Given the description of an element on the screen output the (x, y) to click on. 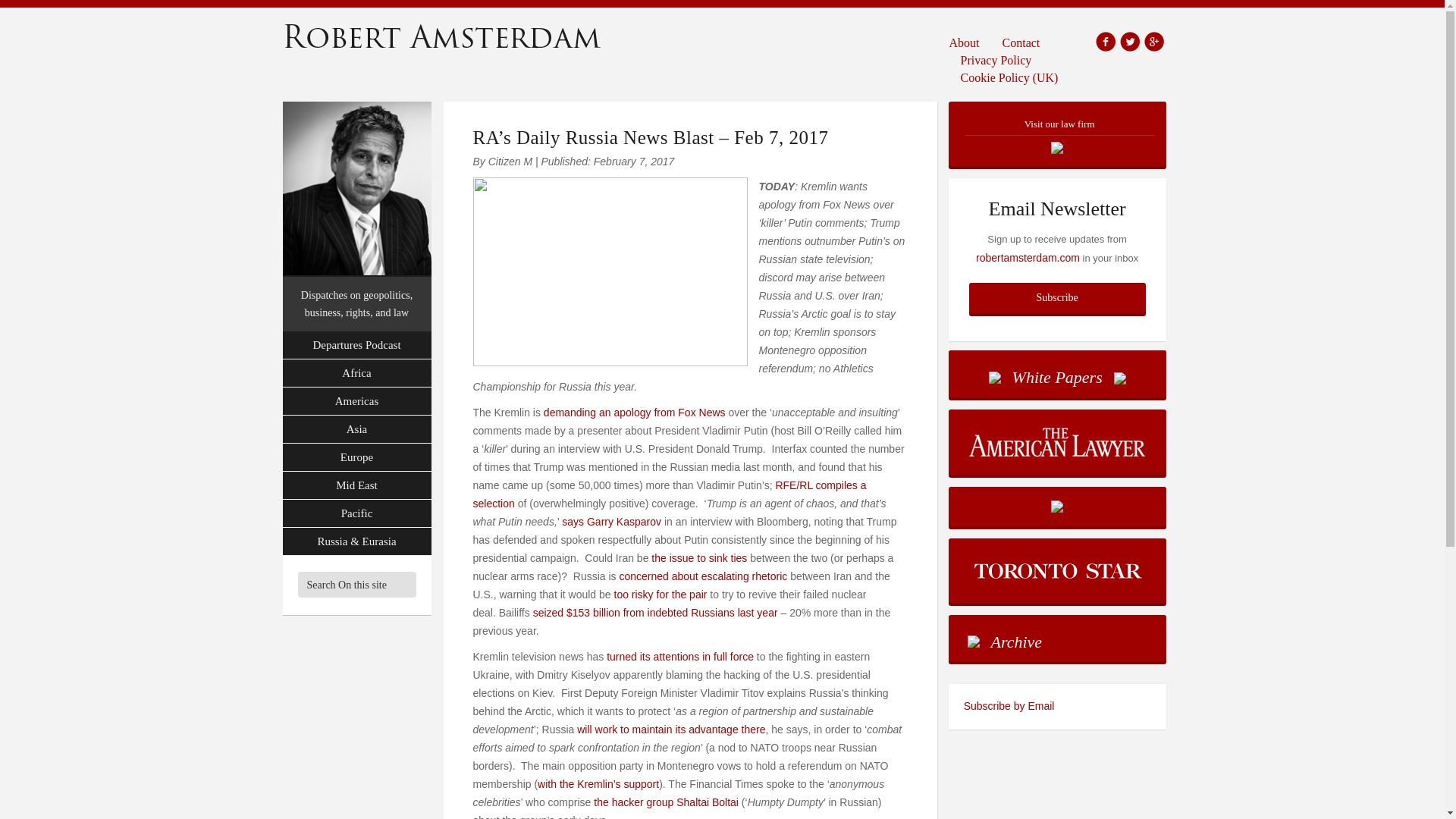
Mid East (356, 485)
will work to maintain its advantage there (670, 729)
demanding an apology from Fox News (634, 412)
Africa (356, 373)
About (970, 42)
Pacific (356, 513)
Visit our law firm (1057, 133)
Asia (356, 429)
Contact (1021, 42)
the hacker group Shaltai Boltai (666, 802)
concerned about escalating rhetoric (702, 576)
the issue to sink ties (698, 558)
Americas (356, 401)
robertamsterdam.com (1027, 257)
says Garry Kasparov (611, 521)
